Given the description of an element on the screen output the (x, y) to click on. 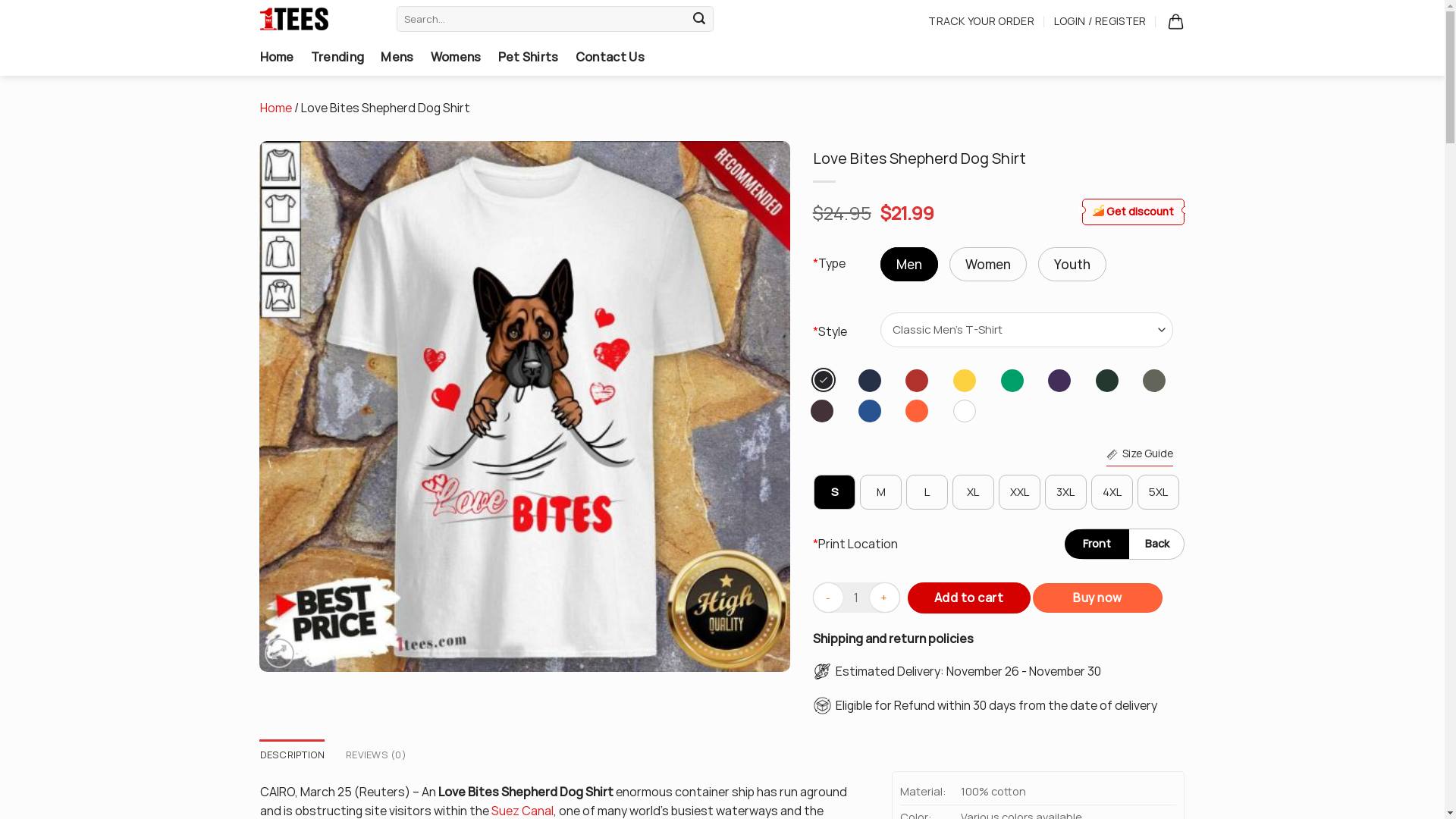
Trending Element type: text (337, 56)
Zoom Element type: hover (279, 653)
Cart Element type: hover (1175, 20)
Size Guide Element type: text (1139, 453)
Add to cart Element type: text (968, 597)
Mens Element type: text (396, 56)
1 Tees - Shopping T-shirts with the latest trends Element type: hover (316, 18)
TRACK YOUR ORDER Element type: text (981, 20)
Home Element type: text (276, 56)
DESCRIPTION Element type: text (291, 754)
Contact Us Element type: text (609, 56)
Skip to content Element type: text (0, 0)
Pet Shirts Element type: text (528, 56)
LOGIN / REGISTER Element type: text (1100, 20)
Womens Element type: text (455, 56)
Search Element type: text (699, 18)
Love Bites Shepherd Dog Shirt Element type: hover (524, 406)
Home Element type: text (275, 107)
Buy now Element type: text (1097, 597)
REVIEWS (0) Element type: text (375, 754)
Qty Element type: hover (856, 597)
